Given the description of an element on the screen output the (x, y) to click on. 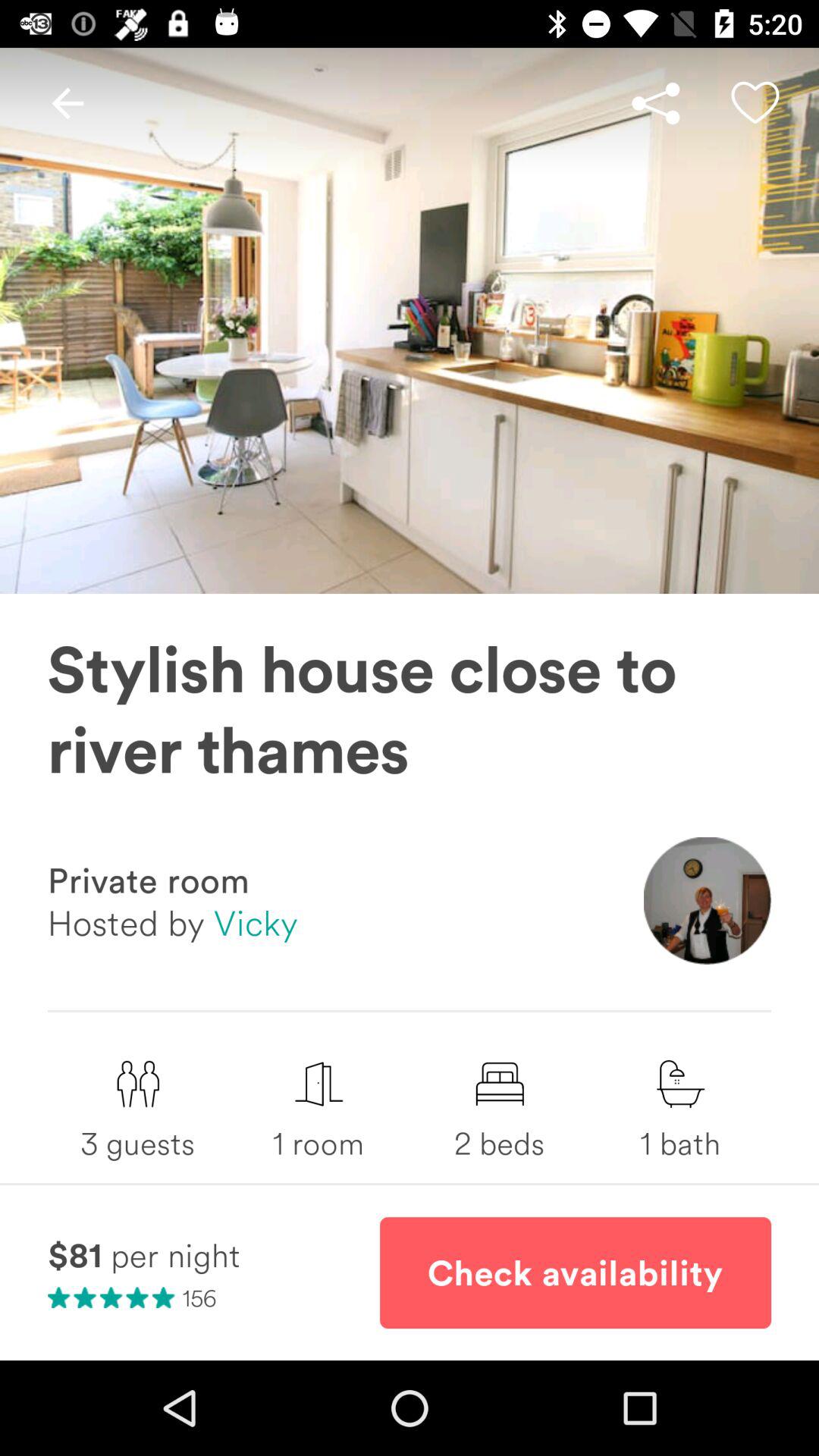
launch icon below stylish house close item (707, 900)
